Given the description of an element on the screen output the (x, y) to click on. 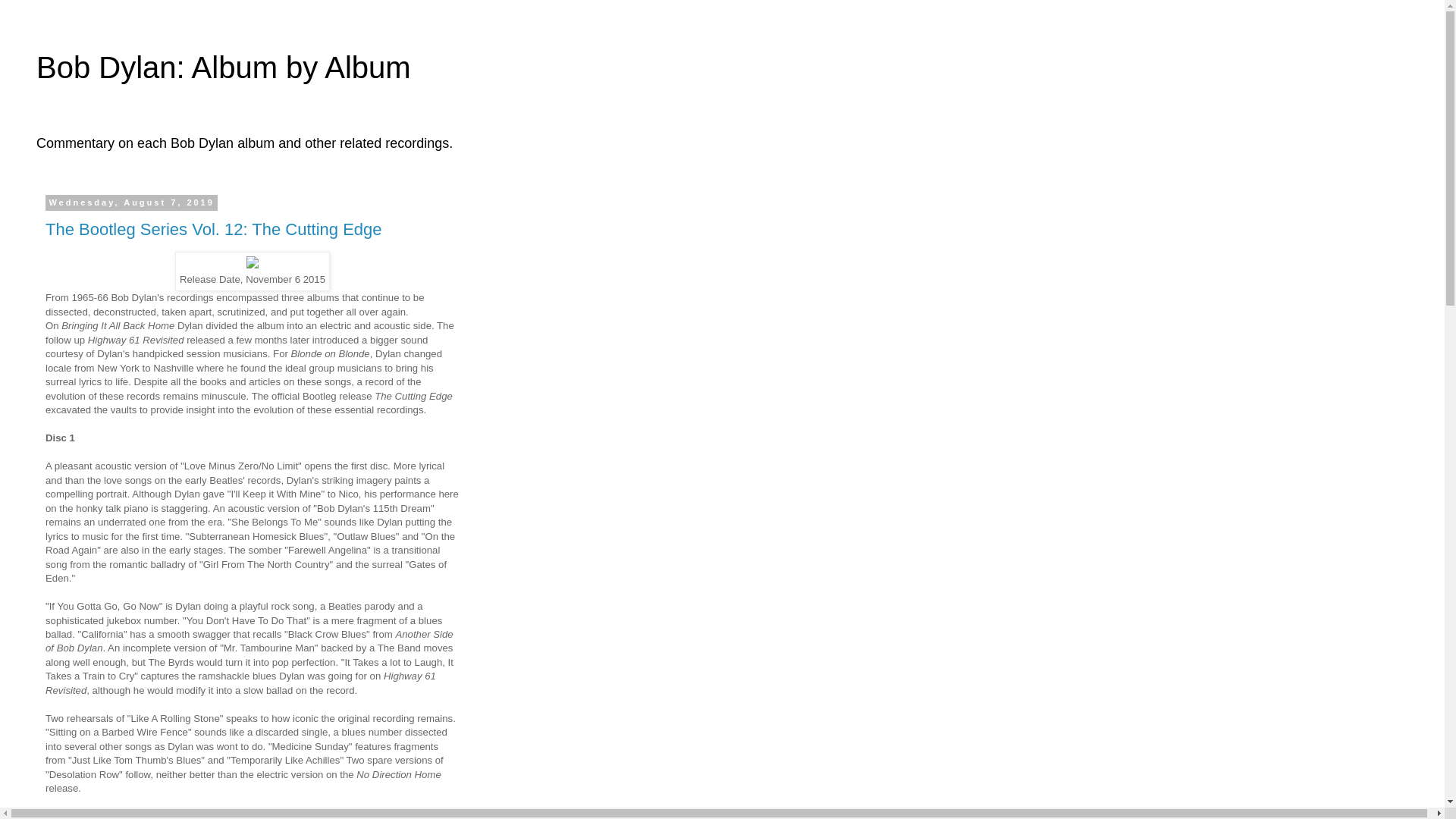
The Bootleg Series Vol. 12: The Cutting Edge (213, 229)
Bob Dylan: Album by Album (223, 67)
